Given the description of an element on the screen output the (x, y) to click on. 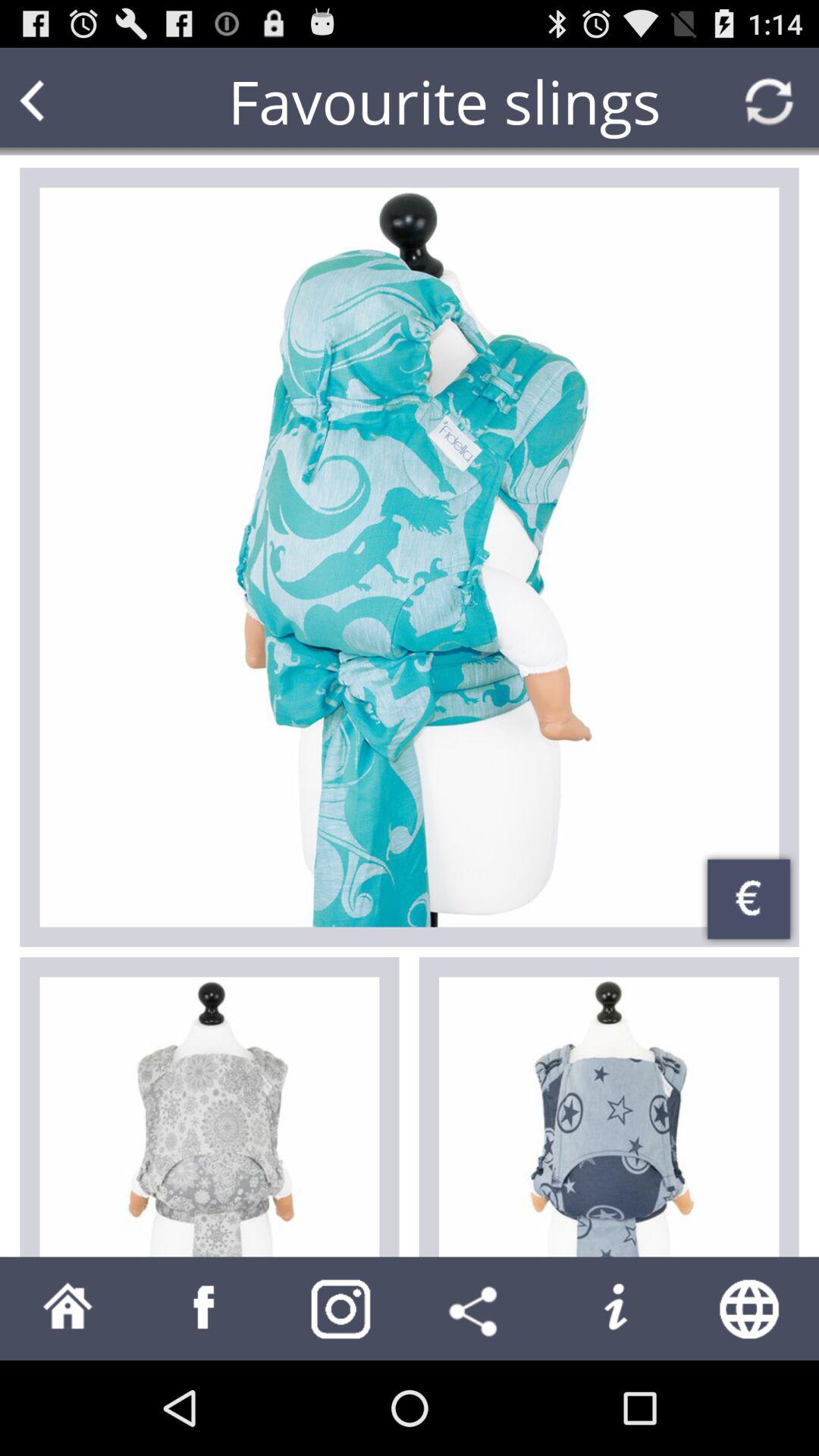
share with instgram (341, 1308)
